Given the description of an element on the screen output the (x, y) to click on. 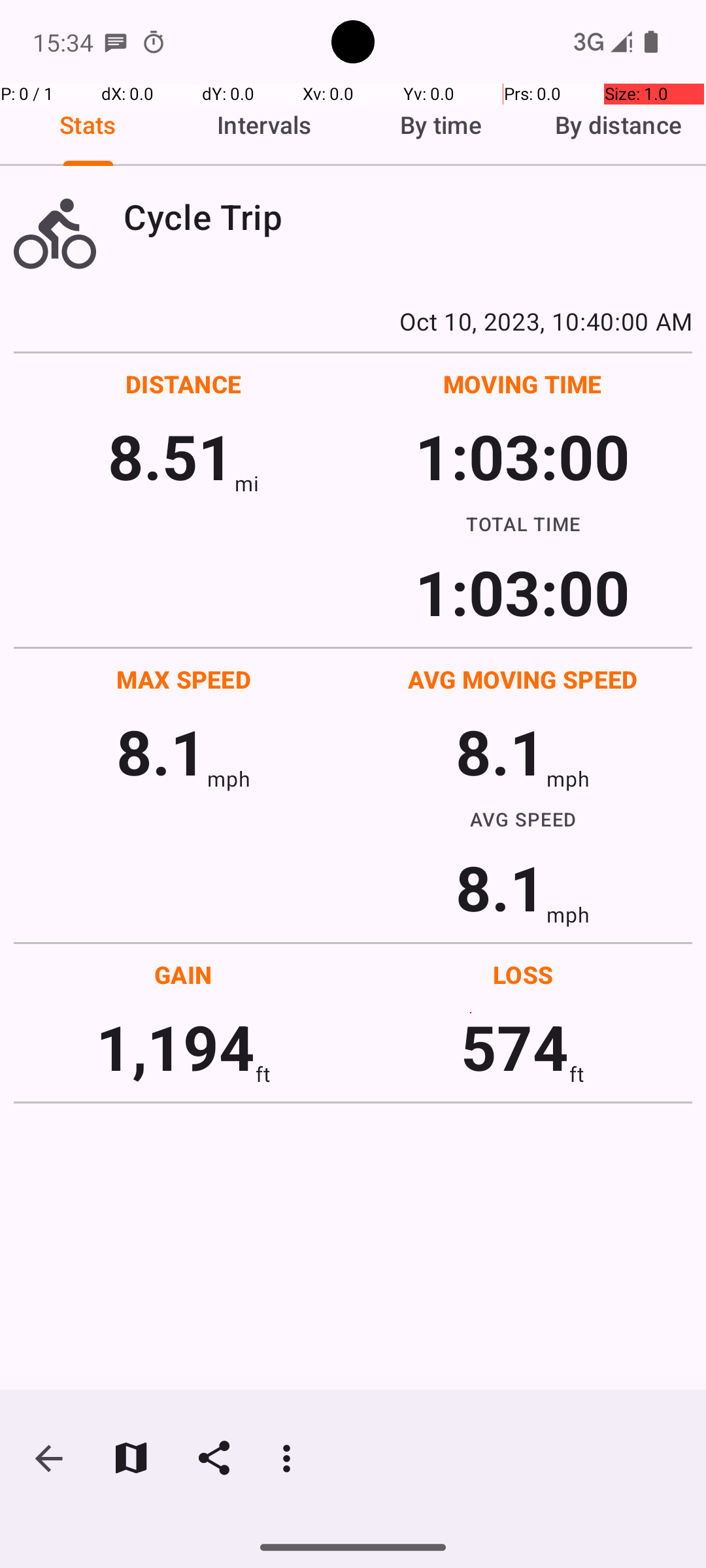
Oct 10, 2023, 10:40:00 AM Element type: android.widget.TextView (352, 320)
8.51 Element type: android.widget.TextView (170, 455)
1:03:00 Element type: android.widget.TextView (522, 455)
8.1 Element type: android.widget.TextView (161, 750)
1,194 Element type: android.widget.TextView (175, 1045)
574 Element type: android.widget.TextView (514, 1045)
